Given the description of an element on the screen output the (x, y) to click on. 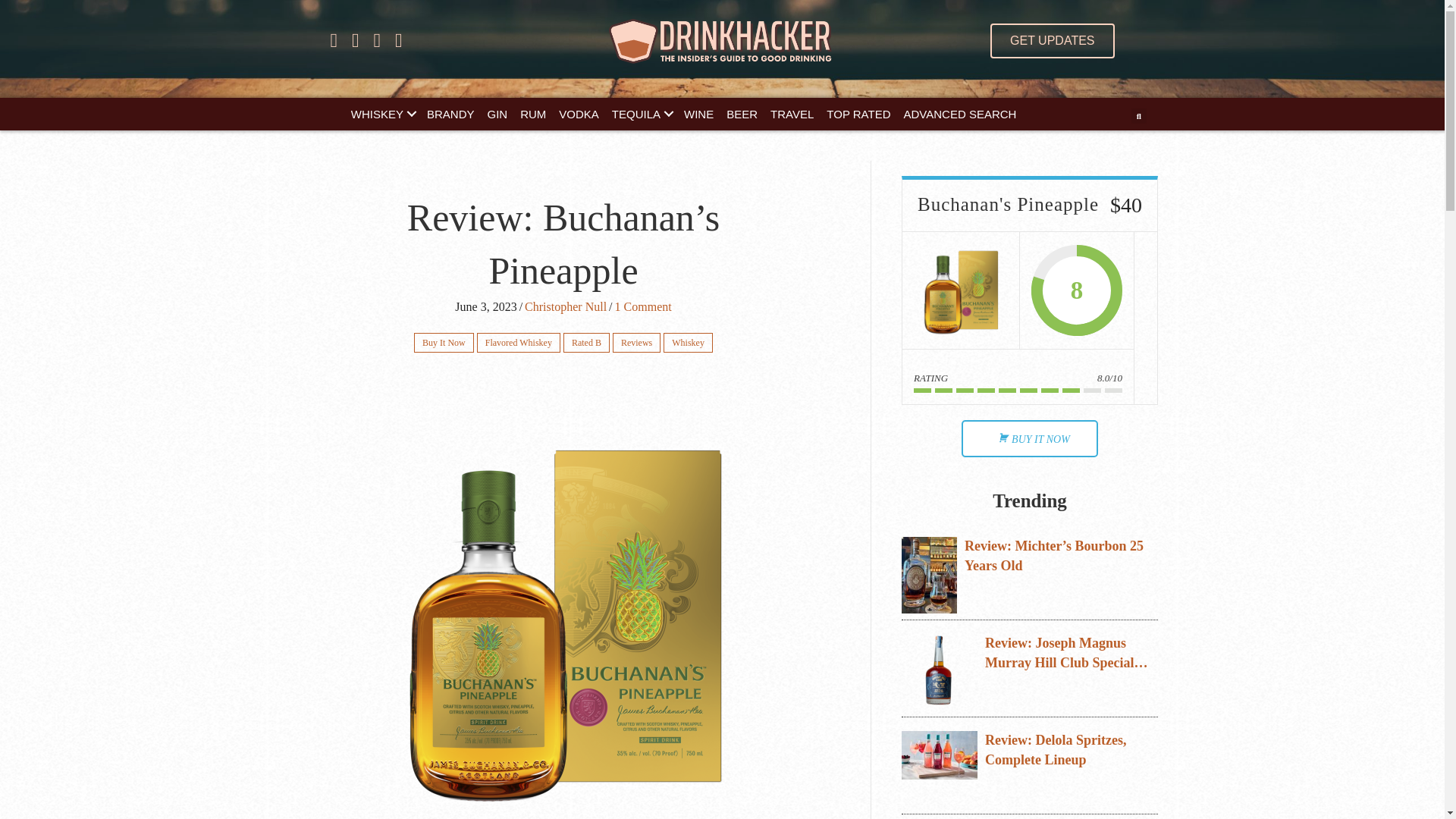
TEQUILA (641, 113)
ADVANCED SEARCH (960, 113)
drinkhacker-logo-pinktag-transparent (721, 40)
Click Here (1051, 40)
Submit (739, 313)
GET UPDATES (1051, 40)
WHISKEY (382, 113)
WINE (698, 113)
TOP RATED (858, 113)
VODKA (579, 113)
BRANDY (450, 113)
RUM (532, 113)
TRAVEL (791, 113)
BEER (741, 113)
GIN (496, 113)
